Given the description of an element on the screen output the (x, y) to click on. 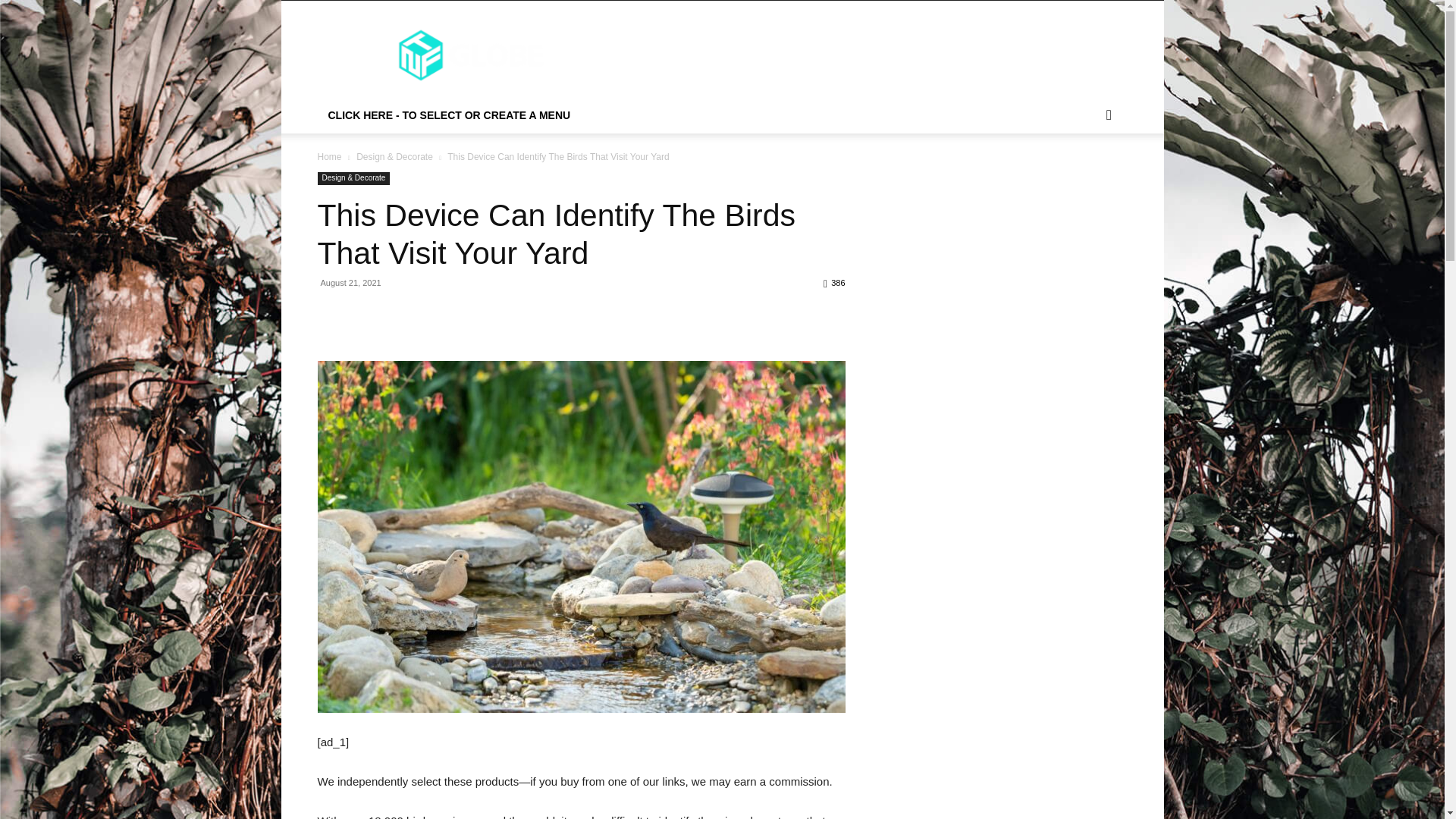
CLICK HERE - TO SELECT OR CREATE A MENU (448, 114)
Search (1085, 175)
Home (328, 156)
